Given the description of an element on the screen output the (x, y) to click on. 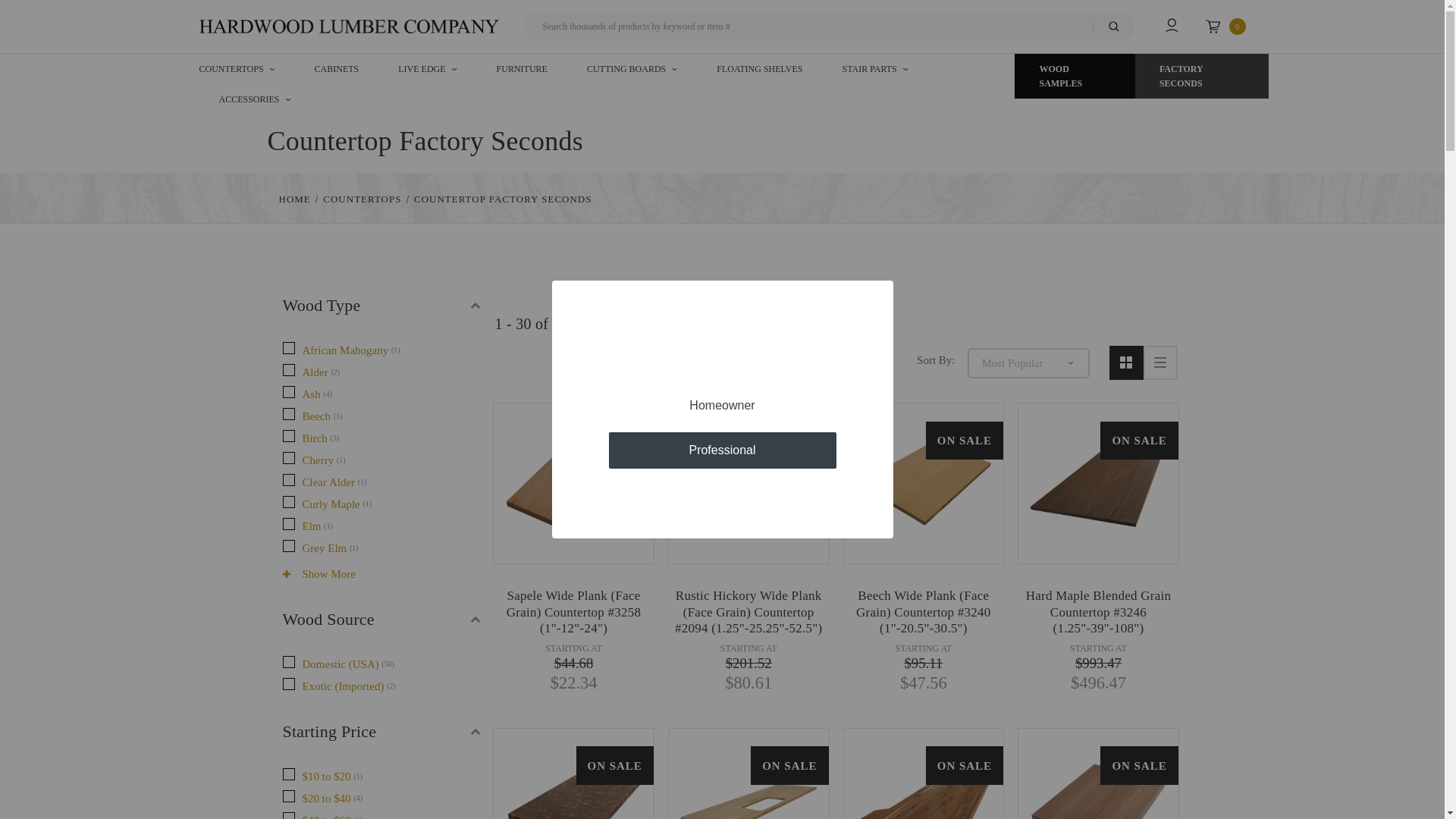
Hardwood Lumber Company (347, 26)
grid icon (1125, 362)
COUNTERTOPS (236, 67)
CABINETS (336, 68)
0 (1225, 23)
Blog (1133, 96)
Our Story (1083, 96)
list icon (1160, 362)
LIVE EDGE (427, 68)
VIEW MORE DETAILS! (542, 95)
Contact Us (1216, 96)
